Given the description of an element on the screen output the (x, y) to click on. 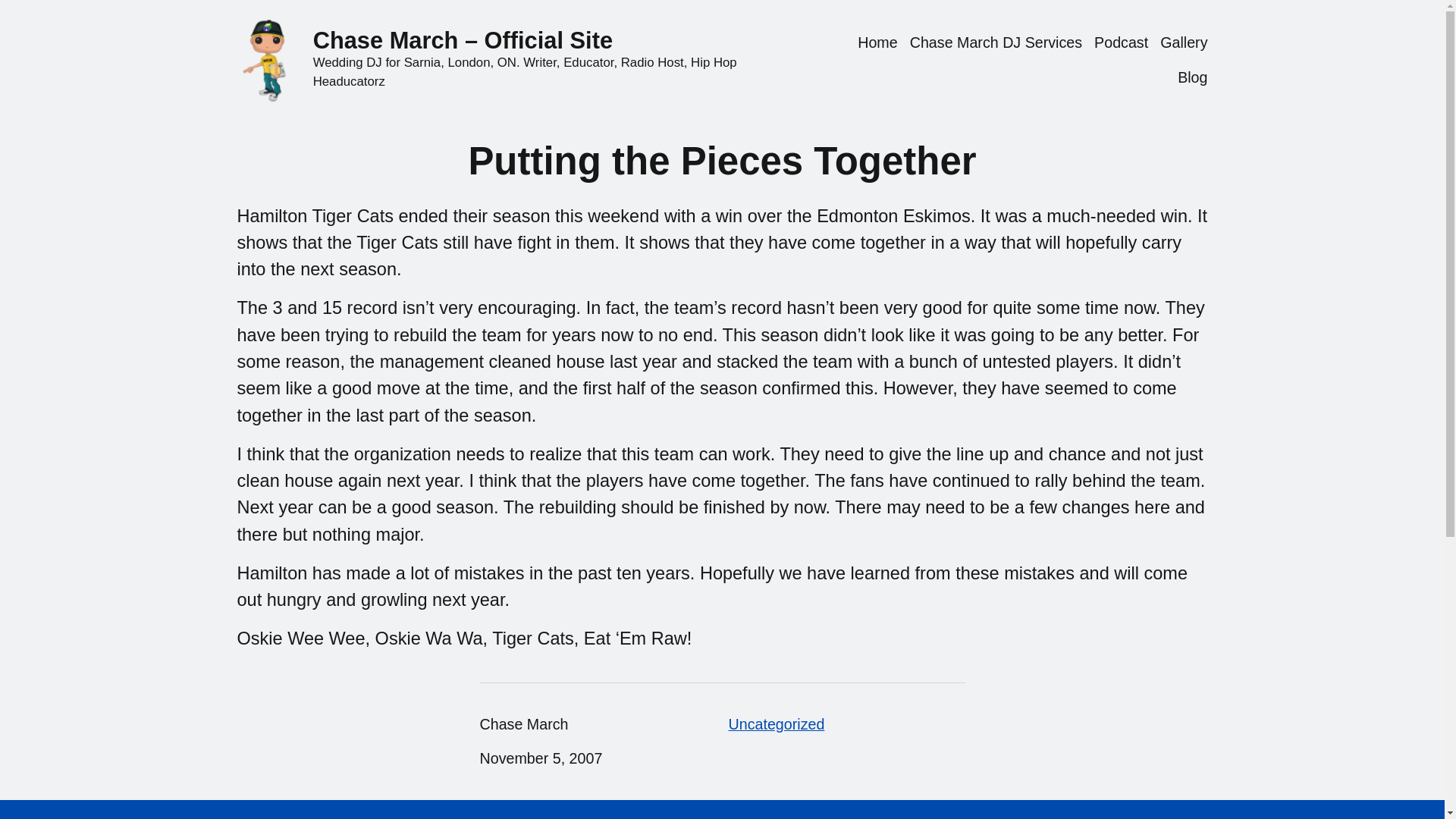
Uncategorized (776, 723)
Home (876, 42)
Chase March DJ Services (995, 42)
Podcast (1121, 42)
Blog (1192, 77)
Gallery (1183, 42)
